Given the description of an element on the screen output the (x, y) to click on. 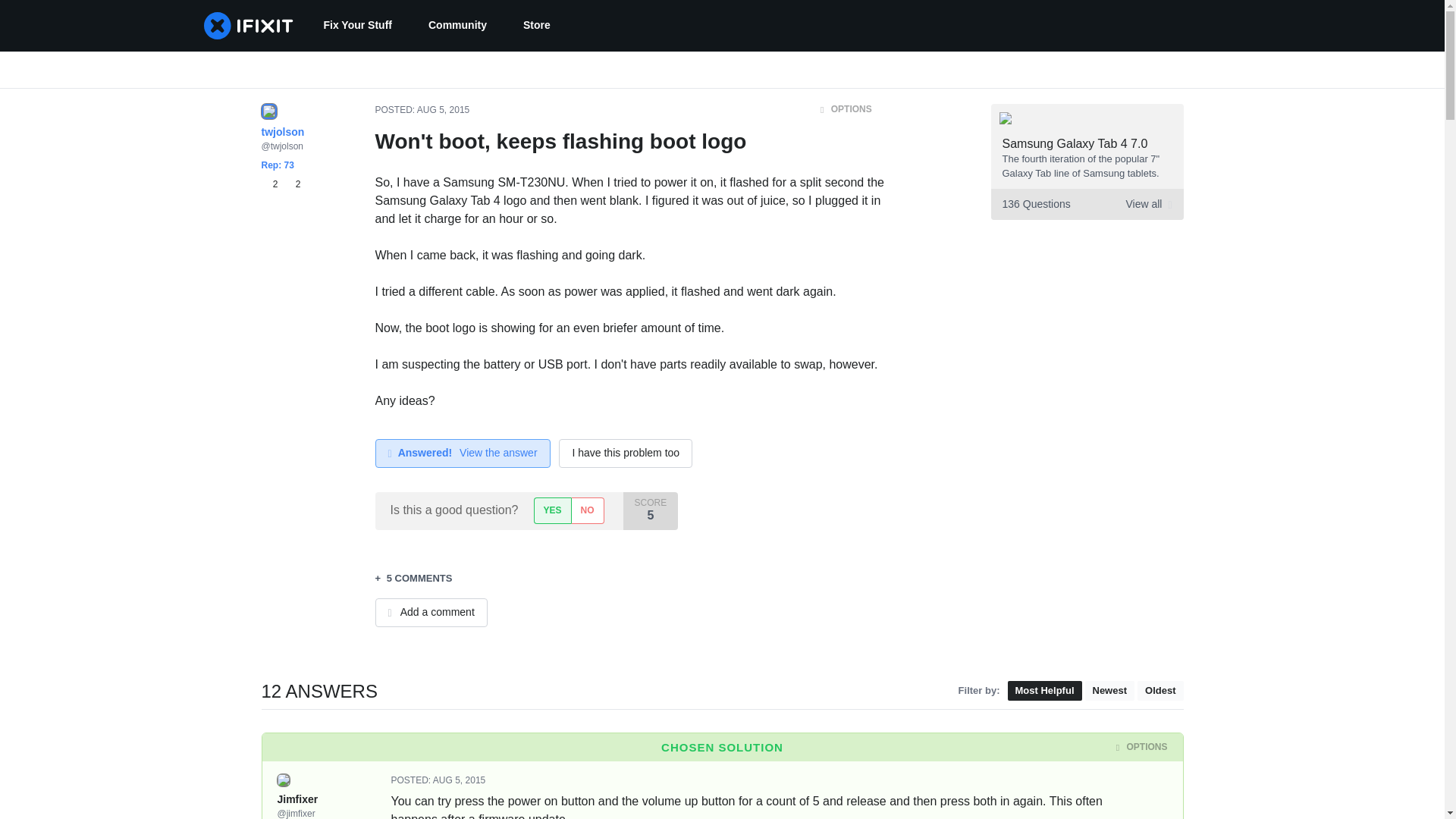
Wed, 05 Aug 2015 13:01:12 -0700 (458, 779)
YES (552, 510)
Newest (1109, 690)
Community (457, 25)
Samsung Galaxy Tab 4 7.0 (1075, 143)
Most Helpful (1044, 690)
2 Bronze badges (271, 184)
Add a comment (430, 612)
Oldest (1159, 690)
2 2 (1086, 204)
Answered! View the answer (279, 184)
Wed, 05 Aug 2015 12:37:48 -0700 (462, 452)
NO (442, 109)
POSTED: AUG 5, 2015 (587, 510)
